Given the description of an element on the screen output the (x, y) to click on. 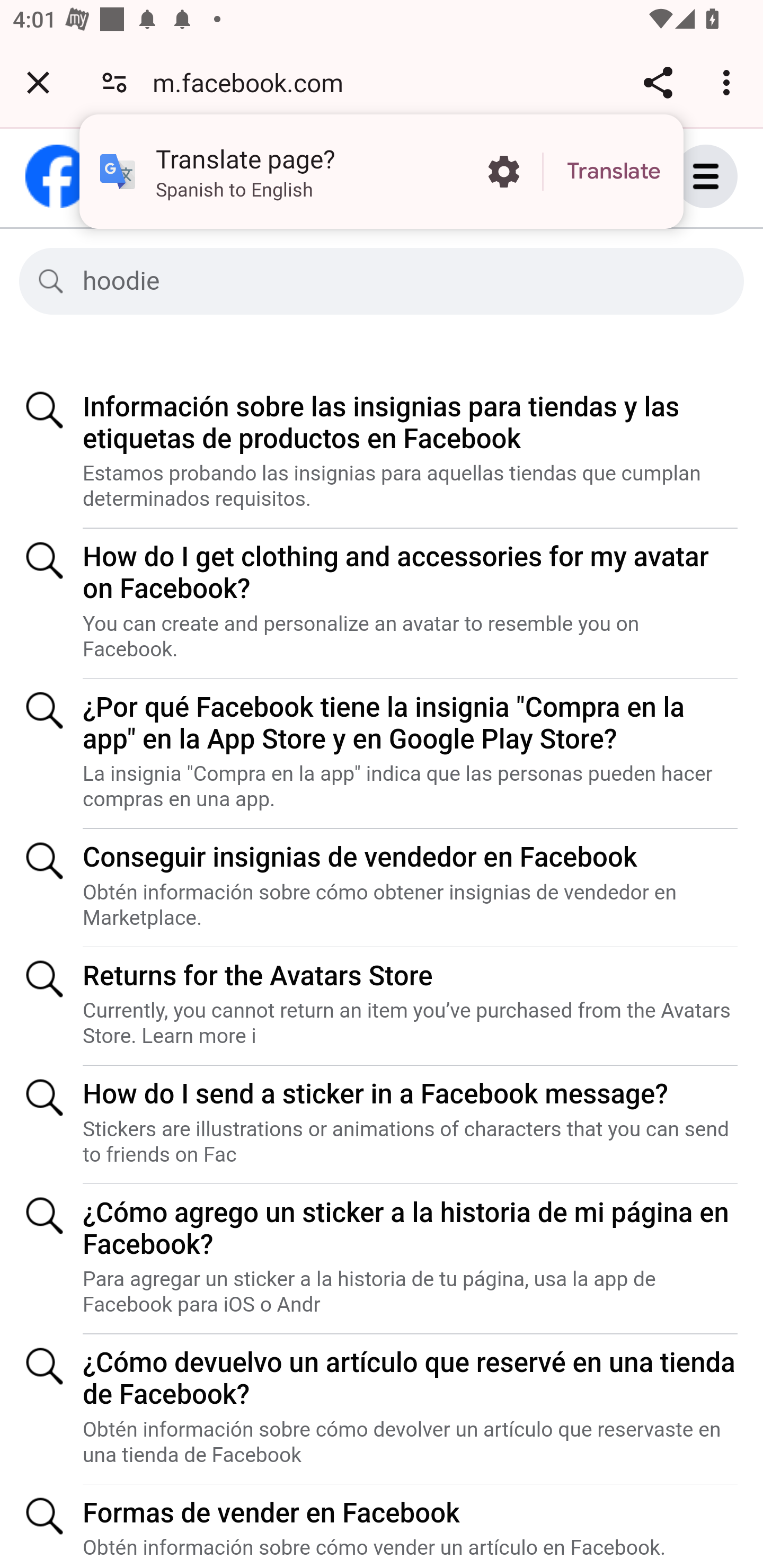
Close tab (38, 82)
Share (657, 82)
Customize and control Google Chrome (729, 82)
Connection is secure (114, 81)
m.facebook.com (254, 81)
Translate (613, 171)
More options in the Translate page? (503, 171)
Menú del servicio de ayuda (724, 176)
hoodie (397, 281)
